Given the description of an element on the screen output the (x, y) to click on. 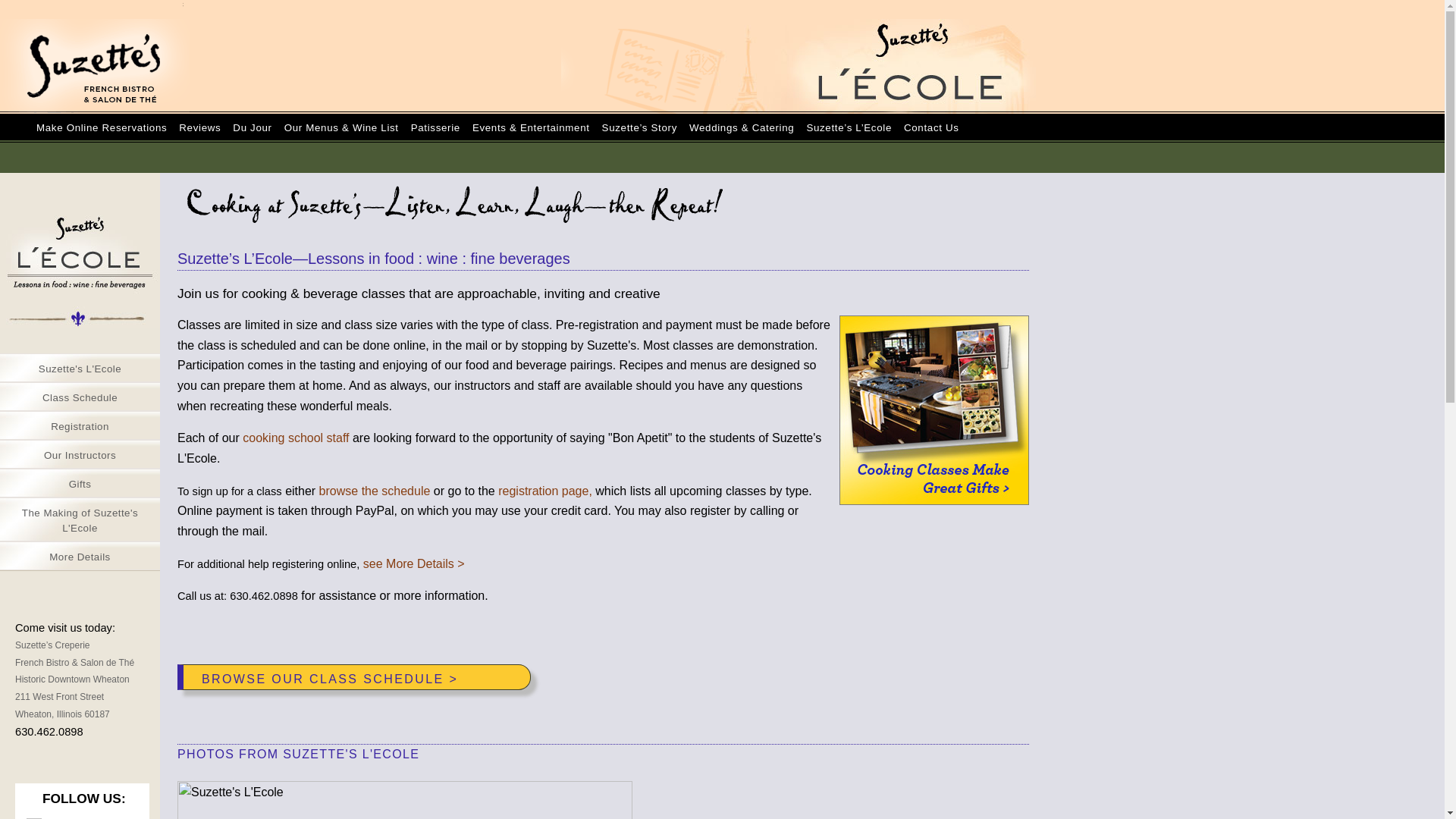
Reviews (200, 152)
Suzette's L'Ecole (80, 367)
Our Instructors (80, 453)
More Details (80, 555)
Make Online Reservations (101, 152)
Suzette's Story (638, 152)
Our Menus - Wine List (341, 152)
cooking school staff (296, 437)
Contact Us (931, 152)
More Details (80, 555)
